Given the description of an element on the screen output the (x, y) to click on. 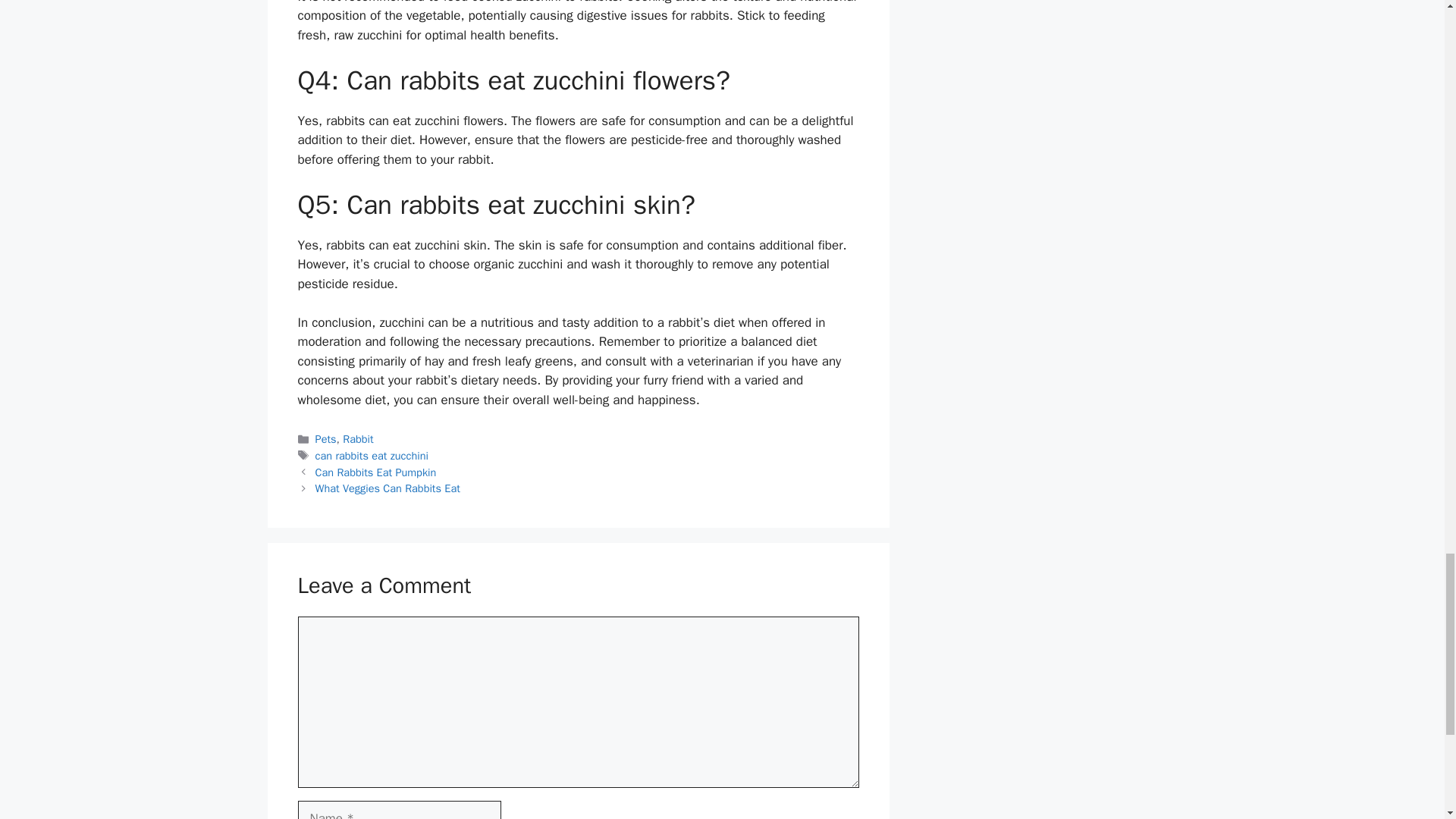
What Veggies Can Rabbits Eat (387, 488)
Pets (325, 438)
Rabbit (357, 438)
can rabbits eat zucchini (371, 455)
Can Rabbits Eat Pumpkin (375, 472)
